Given the description of an element on the screen output the (x, y) to click on. 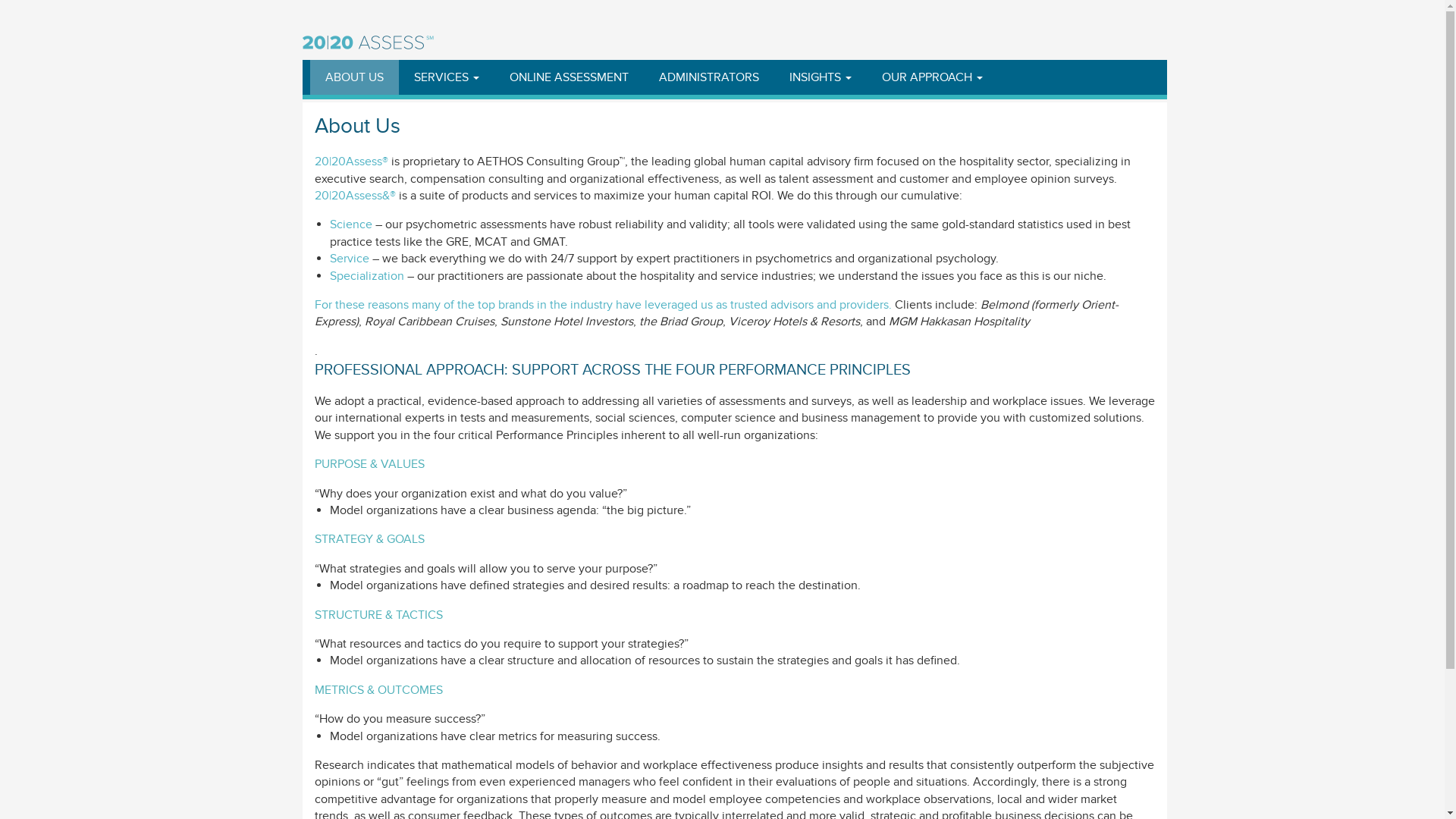
ONLINE ASSESSMENT Element type: text (568, 76)
ABOUT US Element type: text (353, 76)
SERVICES Element type: text (446, 76)
INSIGHTS Element type: text (819, 76)
ADMINISTRATORS Element type: text (708, 76)
OUR APPROACH Element type: text (931, 76)
